Given the description of an element on the screen output the (x, y) to click on. 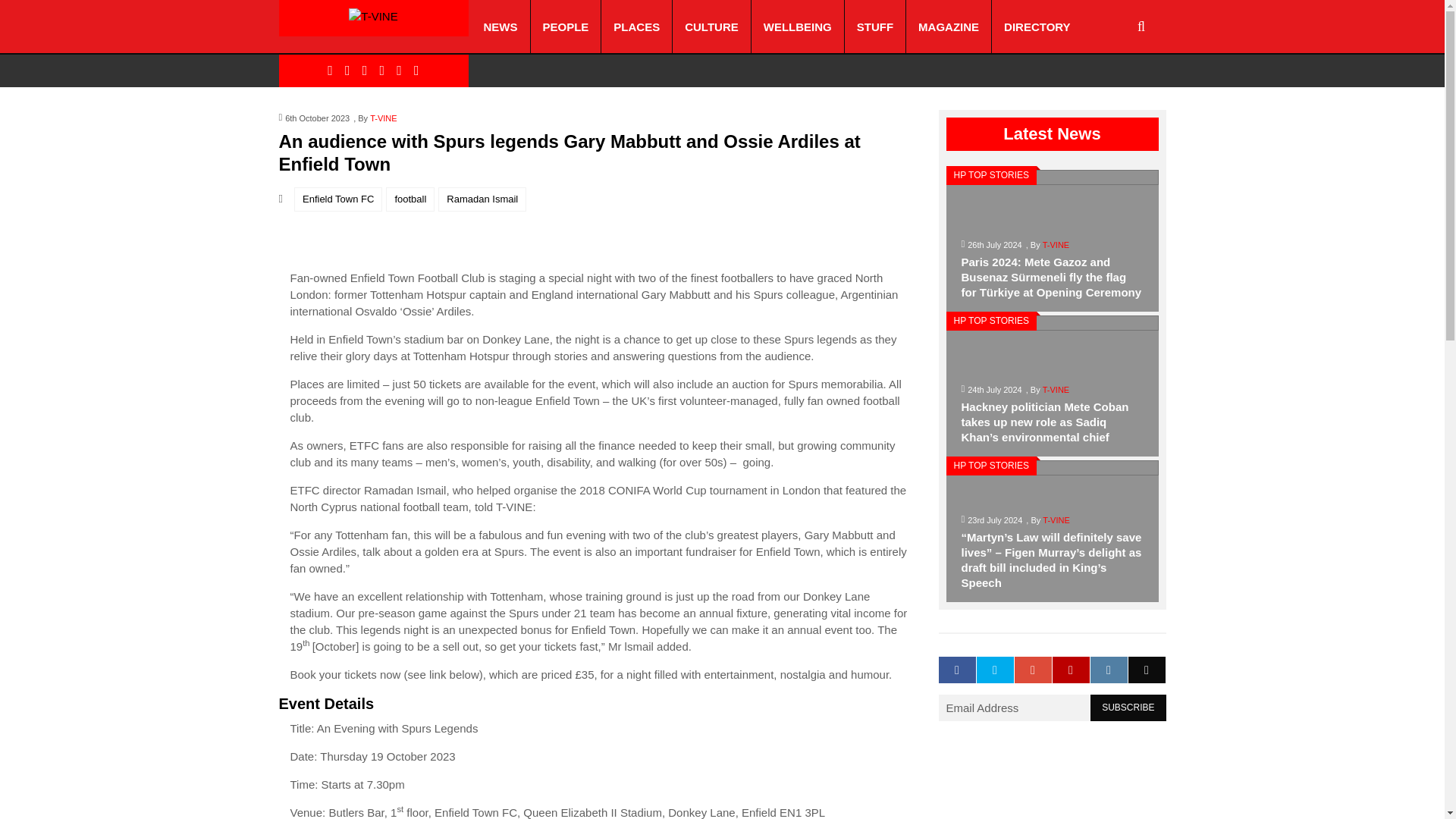
PLACES (636, 26)
NEWS (500, 26)
CULTURE (711, 26)
Subscribe (1128, 707)
PEOPLE (566, 26)
